Given the description of an element on the screen output the (x, y) to click on. 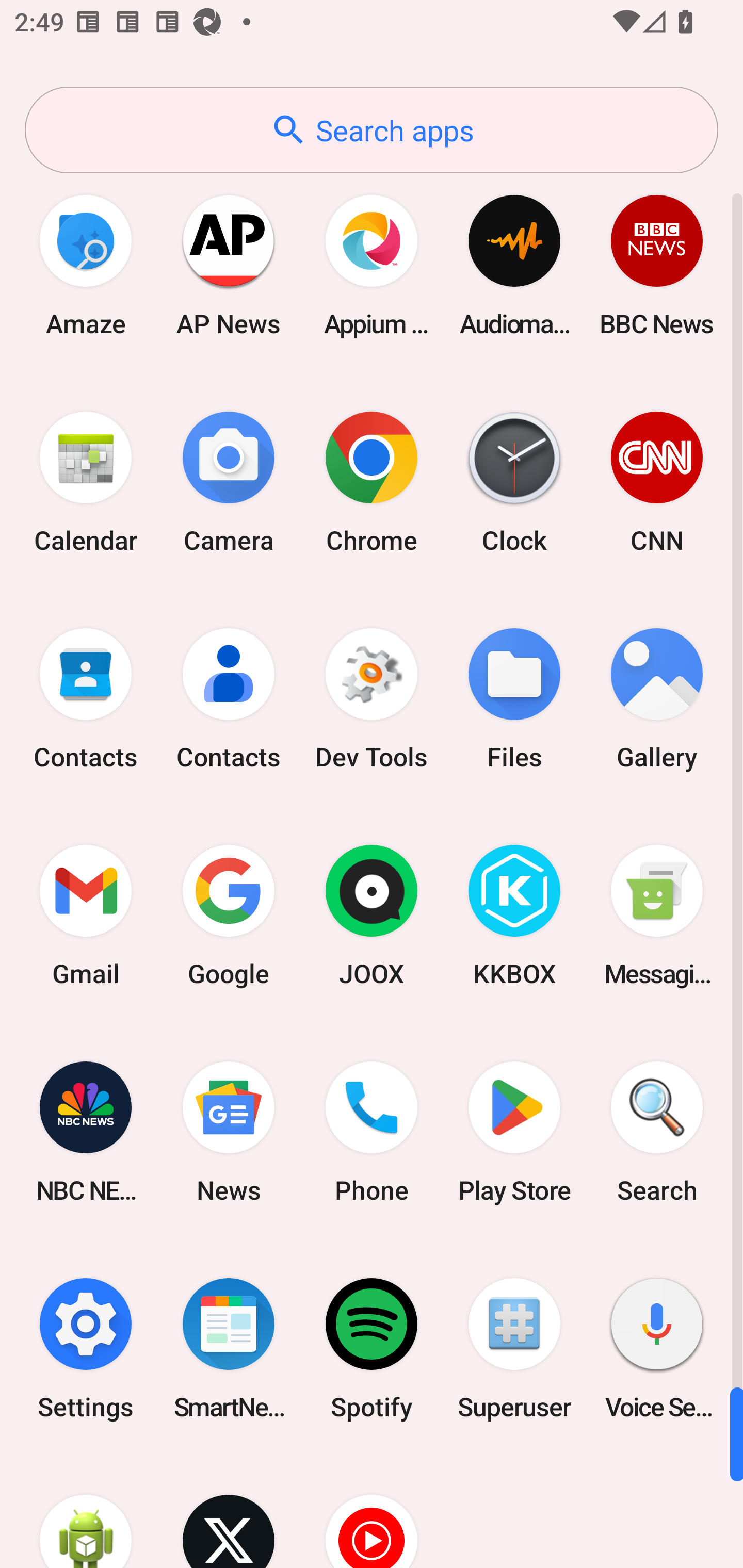
  Search apps (371, 130)
Amaze (85, 264)
AP News (228, 264)
Appium Settings (371, 264)
Audio­mack (514, 264)
BBC News (656, 264)
Calendar (85, 482)
Camera (228, 482)
Chrome (371, 482)
Clock (514, 482)
CNN (656, 482)
Contacts (85, 699)
Contacts (228, 699)
Dev Tools (371, 699)
Files (514, 699)
Gallery (656, 699)
Gmail (85, 915)
Google (228, 915)
JOOX (371, 915)
KKBOX (514, 915)
Messaging (656, 915)
NBC NEWS (85, 1131)
News (228, 1131)
Phone (371, 1131)
Play Store (514, 1131)
Search (656, 1131)
Settings (85, 1348)
SmartNews (228, 1348)
Spotify (371, 1348)
Superuser (514, 1348)
Voice Search (656, 1348)
WebView Browser Tester (85, 1512)
X (228, 1512)
YT Music (371, 1512)
